Given the description of an element on the screen output the (x, y) to click on. 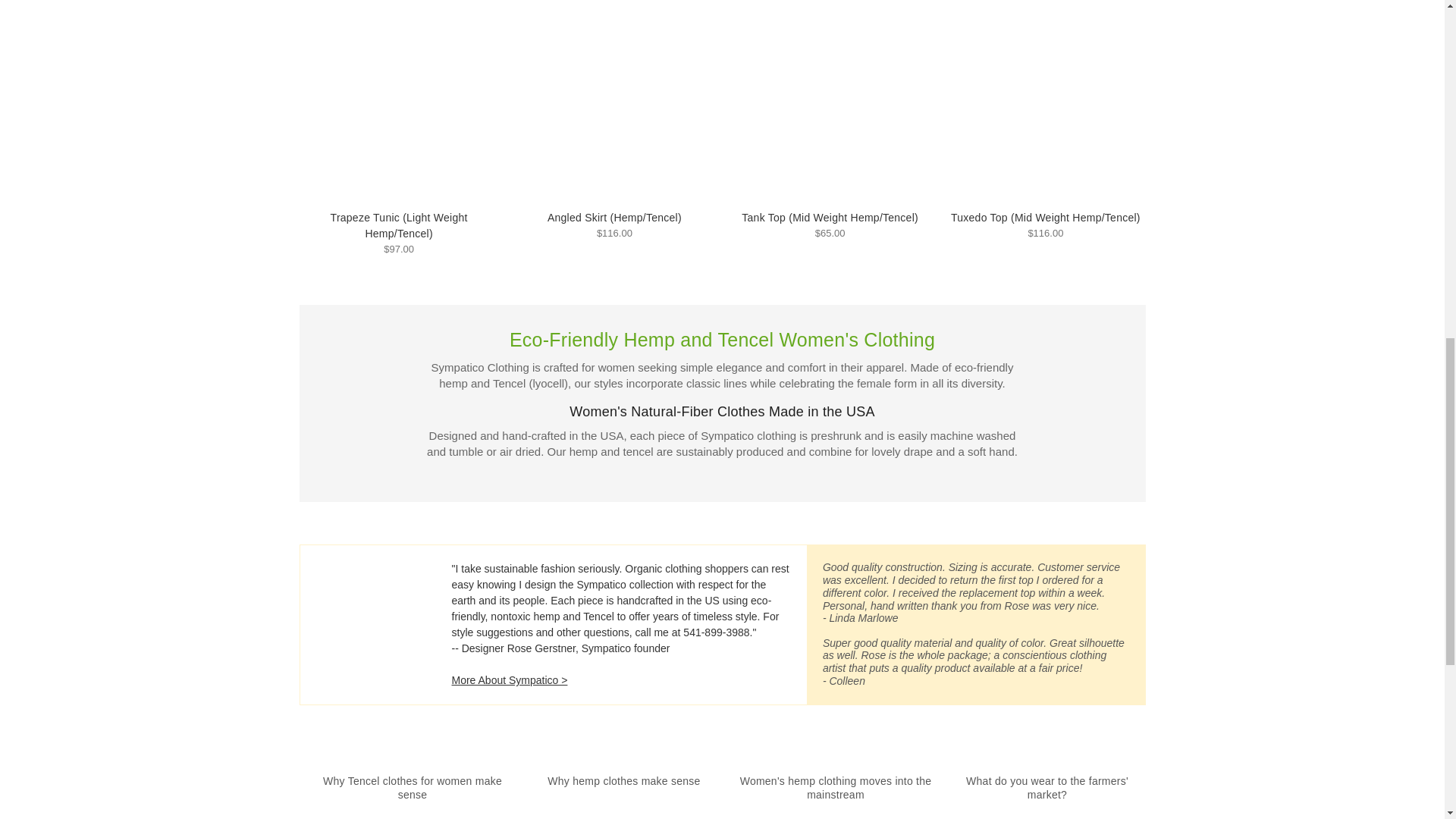
Graphite long travel skirt (614, 102)
Natural sustainable clothing (830, 102)
Why hemp clothes make sense (623, 780)
Grey Fog hemp - Tencel top (397, 102)
Why Tencel clothes for women make sense (412, 787)
